Given the description of an element on the screen output the (x, y) to click on. 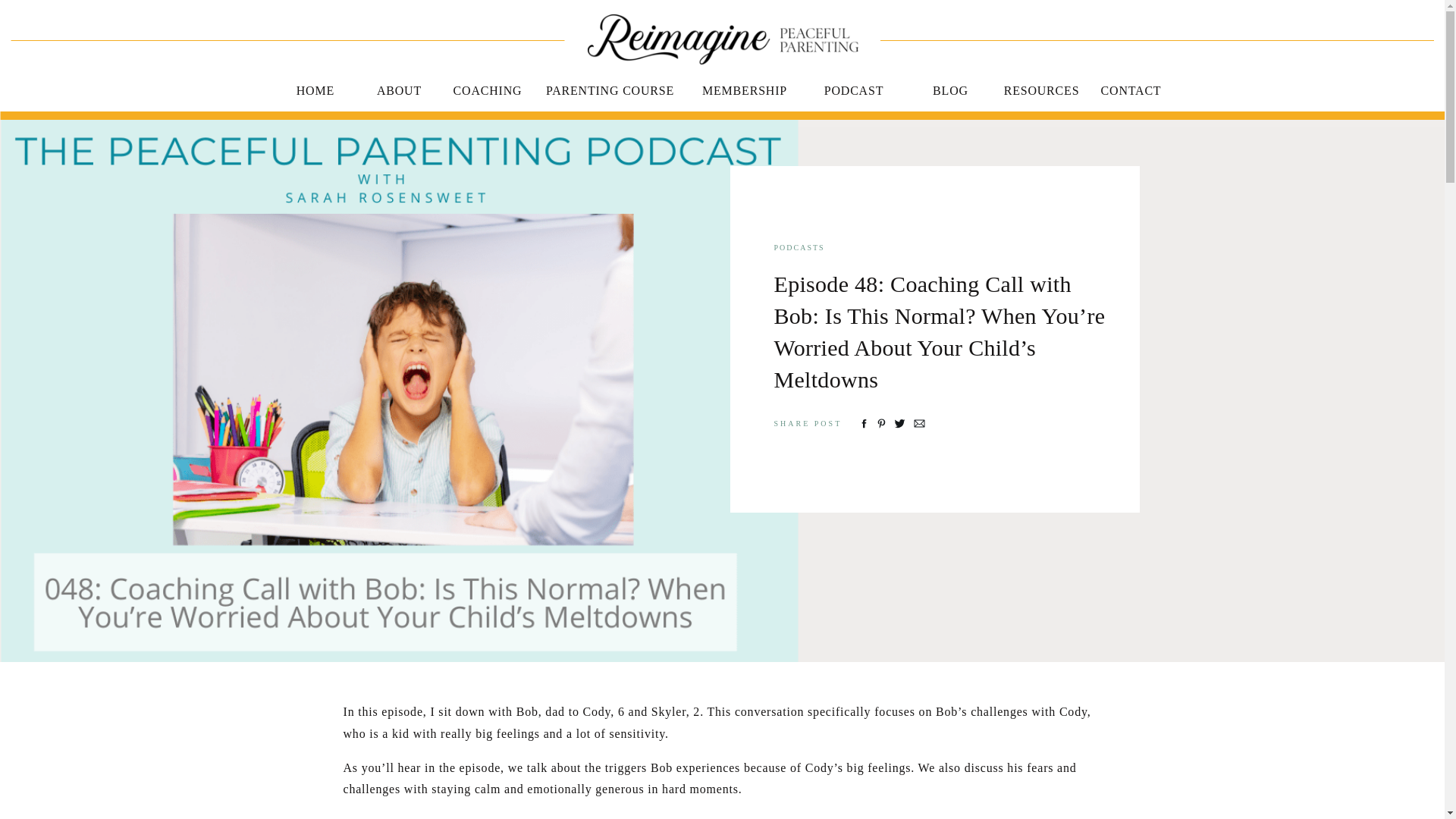
COACHING (487, 88)
MEMBERSHIP (743, 88)
PODCAST (853, 88)
 HOME (314, 88)
BLOG (949, 88)
RESOURCES (1040, 88)
PARENTING COURSE (609, 88)
PODCASTS (798, 247)
CONTACT (1130, 88)
ABOUT (399, 88)
